Given the description of an element on the screen output the (x, y) to click on. 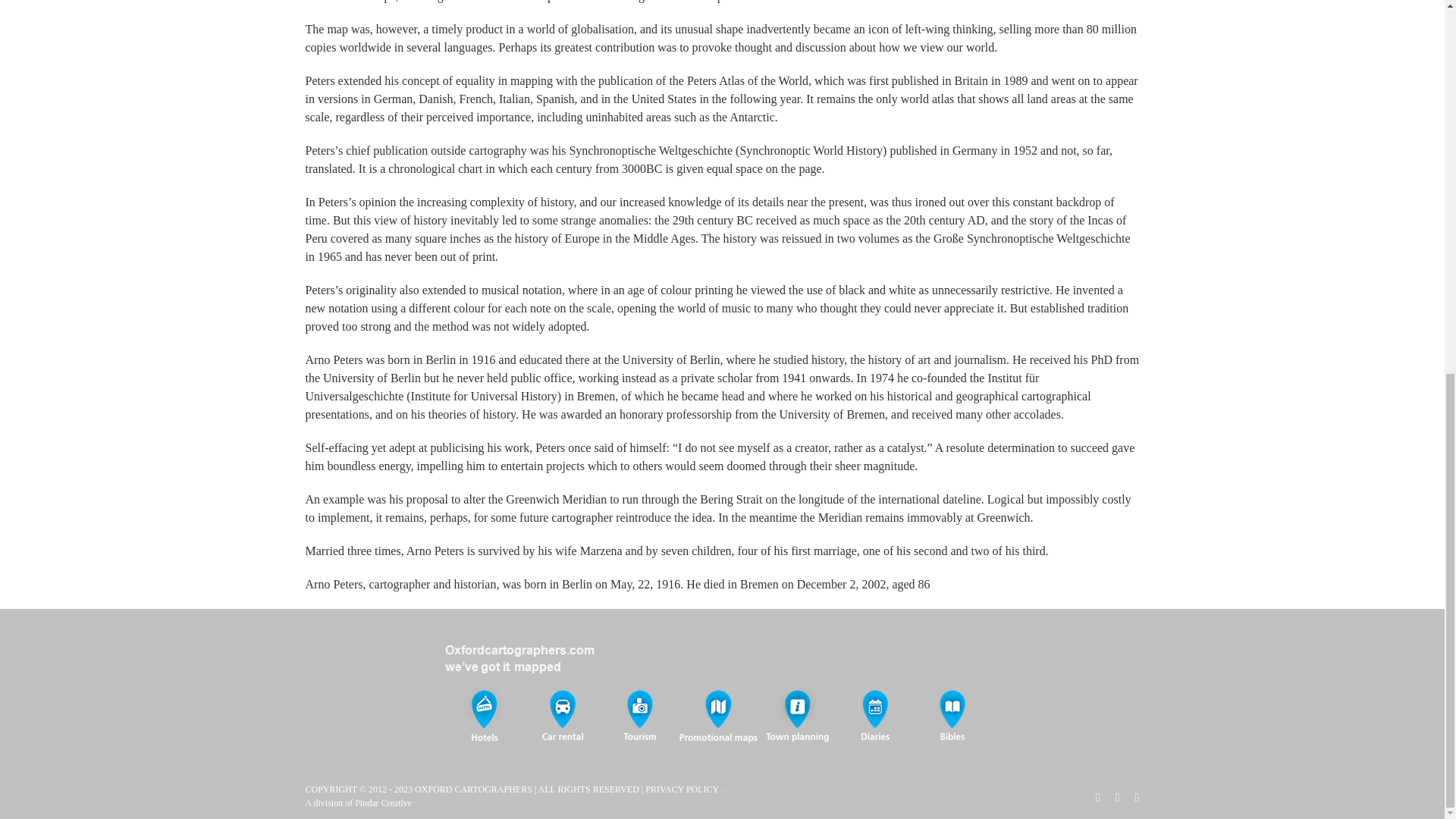
PRIVACY POLICY (682, 788)
Pindar Creative (383, 802)
View the Pindar Creative website (383, 802)
